Given the description of an element on the screen output the (x, y) to click on. 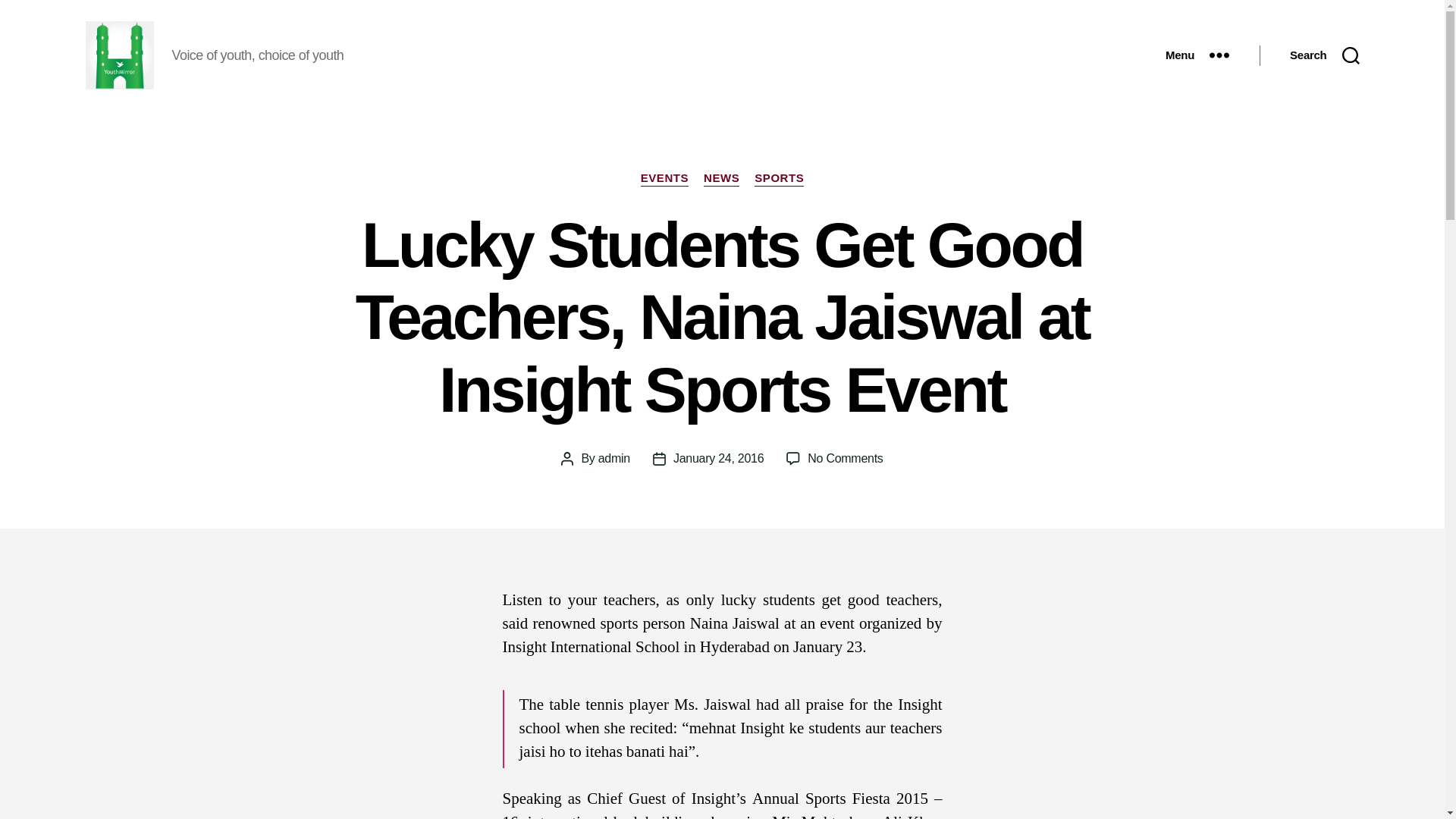
SPORTS (778, 178)
Search (1324, 55)
admin (614, 458)
NEWS (721, 178)
January 24, 2016 (717, 458)
Menu (1197, 55)
EVENTS (664, 178)
